Given the description of an element on the screen output the (x, y) to click on. 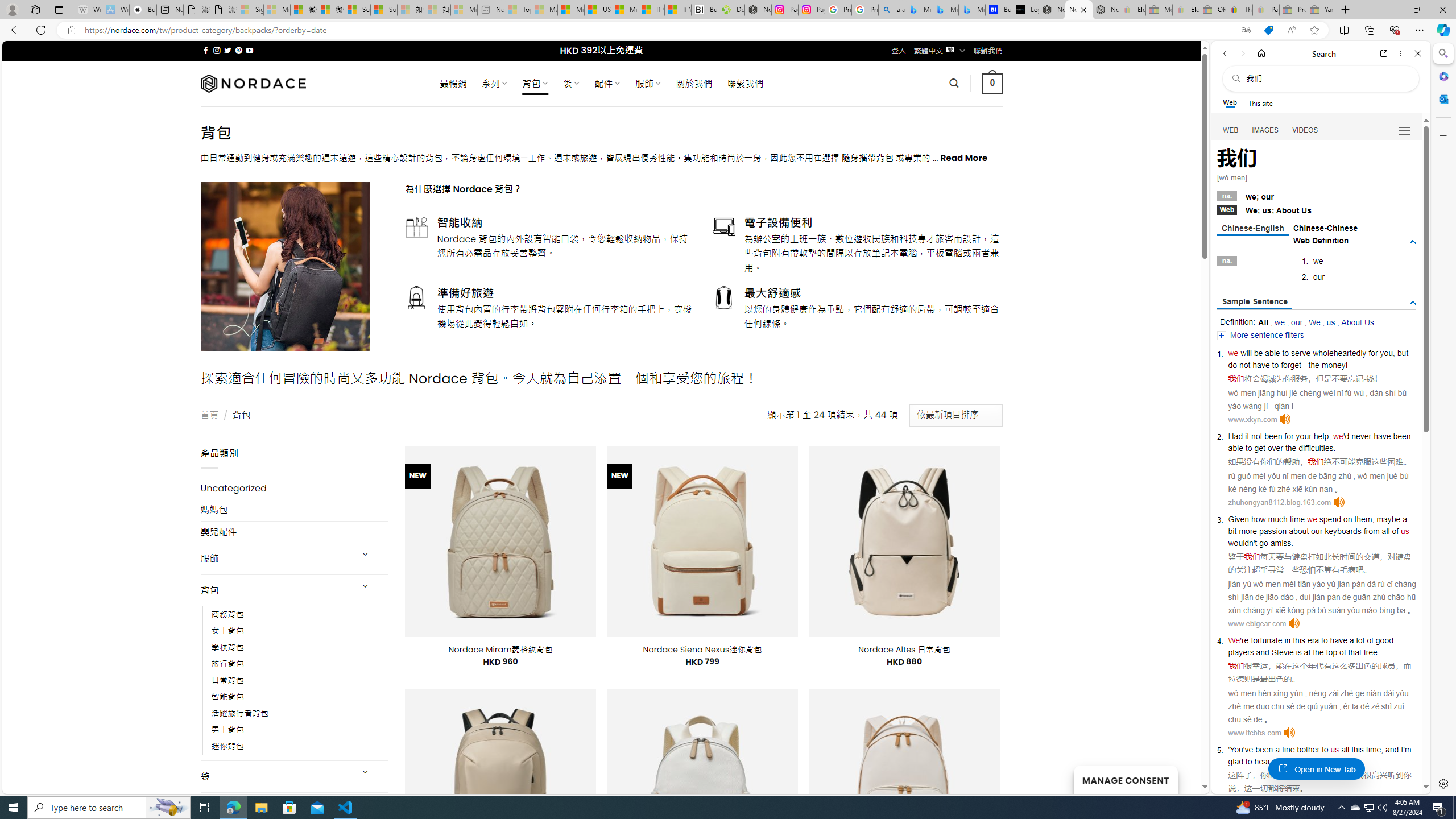
Follow on Instagram (216, 50)
money (1332, 364)
bother (1308, 749)
 0  (992, 83)
stop (1322, 760)
